Given the description of an element on the screen output the (x, y) to click on. 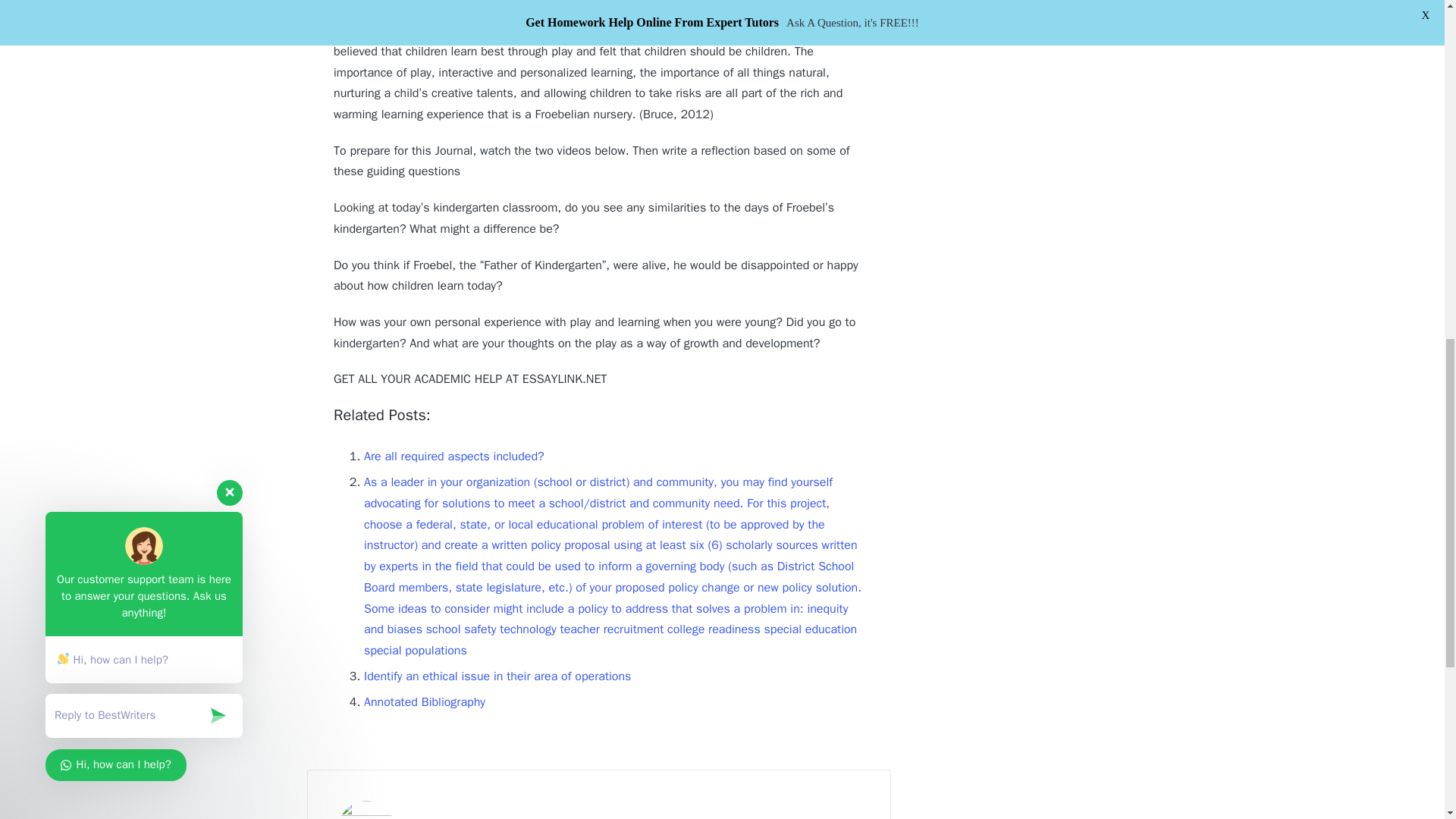
Are all required aspects included? (454, 456)
Identify an ethical issue in their area of operations (497, 676)
Annotated Bibliography (424, 702)
Are all required aspects included? (454, 456)
Annotated Bibliography (424, 702)
Identify an ethical issue in their area of operations (497, 676)
